Given the description of an element on the screen output the (x, y) to click on. 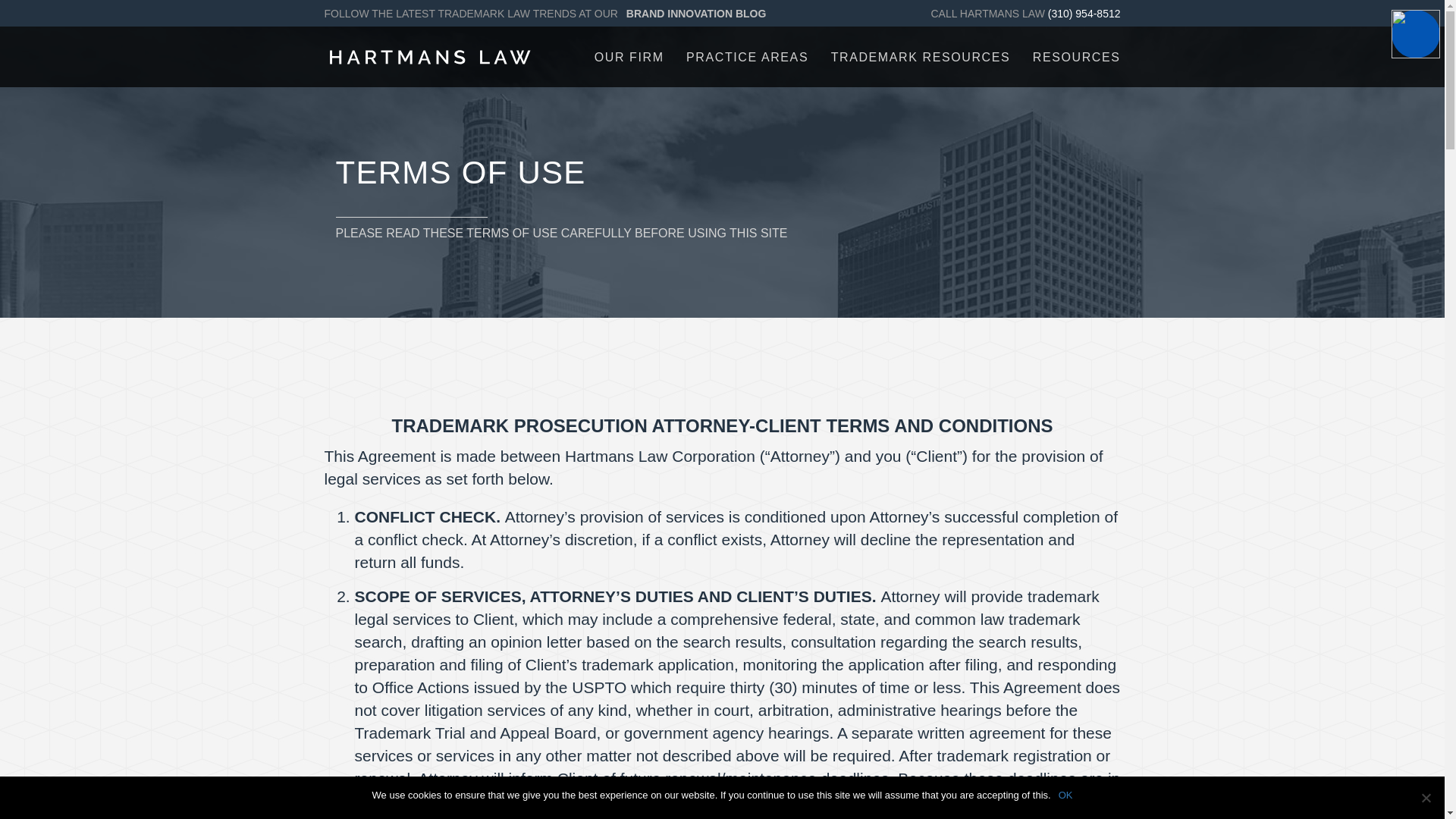
RESOURCES (1076, 56)
Trademark Resources (920, 56)
PRACTICE AREAS (746, 56)
Practice Areas (746, 56)
TRADEMARK RESOURCES (920, 56)
Accessibility Menu (1415, 33)
BRAND INNOVATION BLOG (696, 13)
Resources (1076, 56)
Our Firm (628, 56)
OUR FIRM (628, 56)
